Given the description of an element on the screen output the (x, y) to click on. 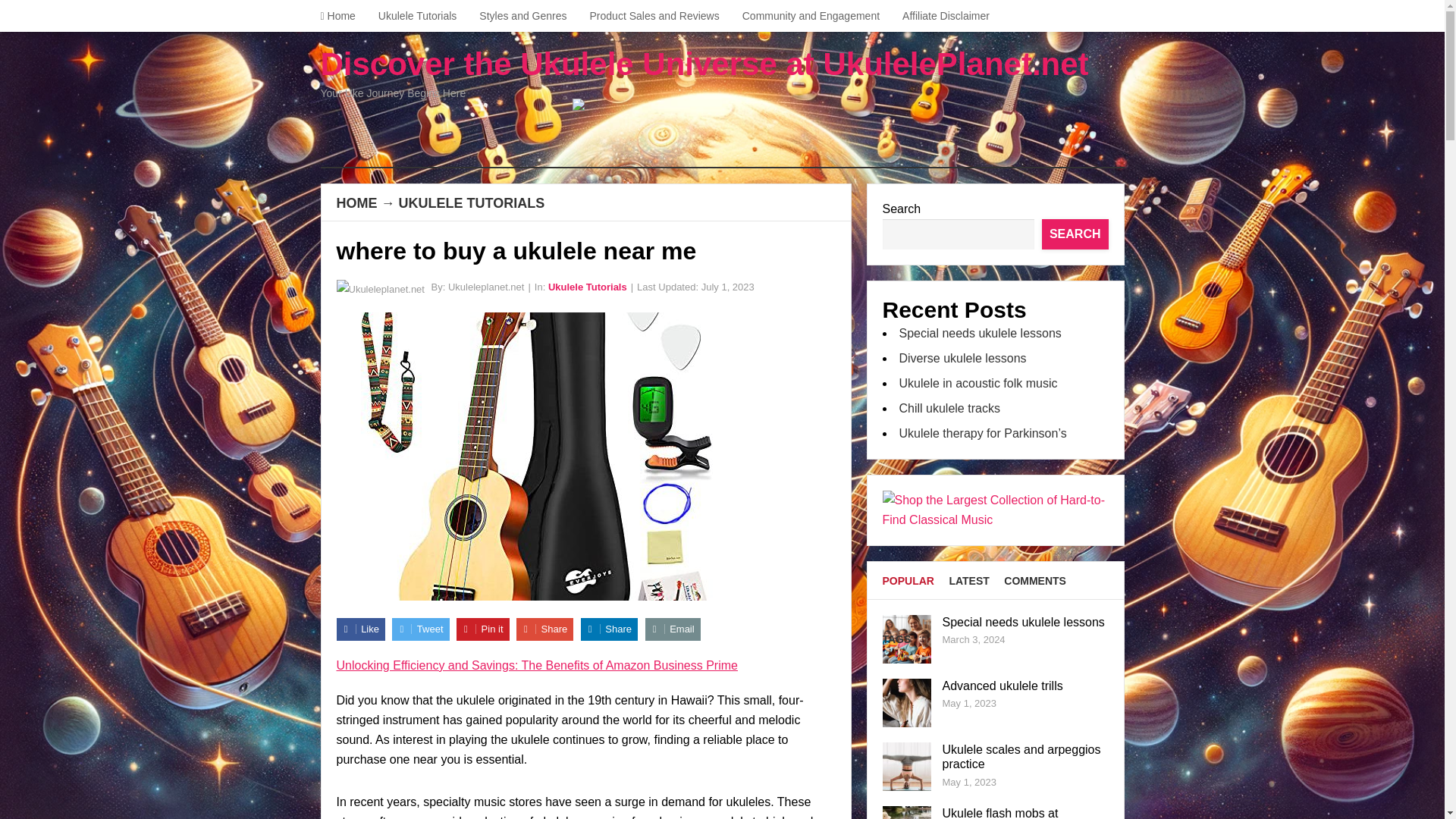
Like (360, 629)
Tweet (419, 629)
Ukulele Tutorials (587, 286)
Share (608, 629)
HOME (356, 202)
Comments (1034, 580)
Share (544, 629)
UKULELE TUTORIALS (471, 202)
Ukuleleplanet.net (486, 286)
Home (343, 15)
